Given the description of an element on the screen output the (x, y) to click on. 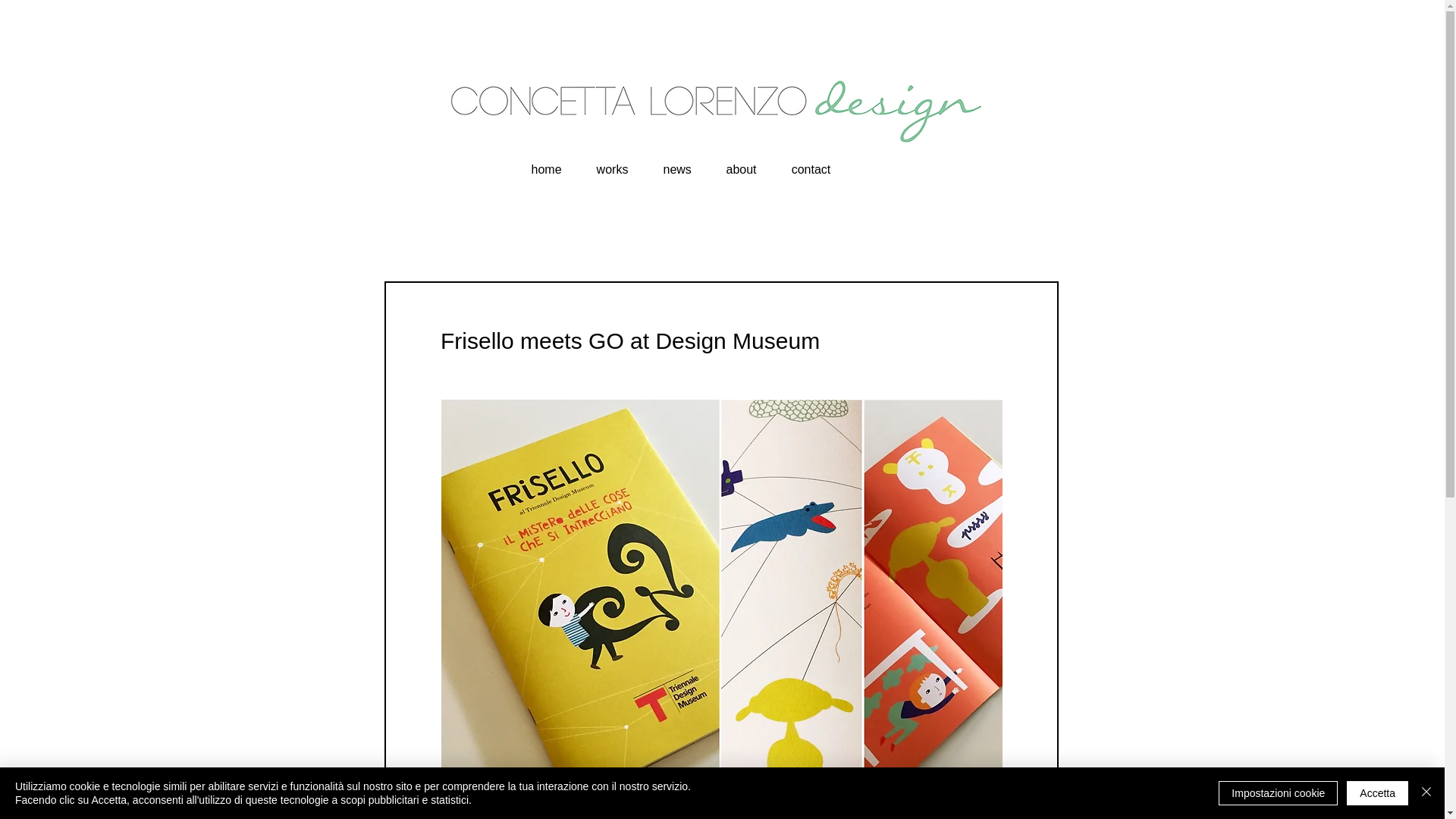
news (677, 162)
Accetta (1376, 793)
about (740, 162)
home (546, 162)
Impostazioni cookie (1278, 793)
contact (810, 162)
works (612, 162)
